Given the description of an element on the screen output the (x, y) to click on. 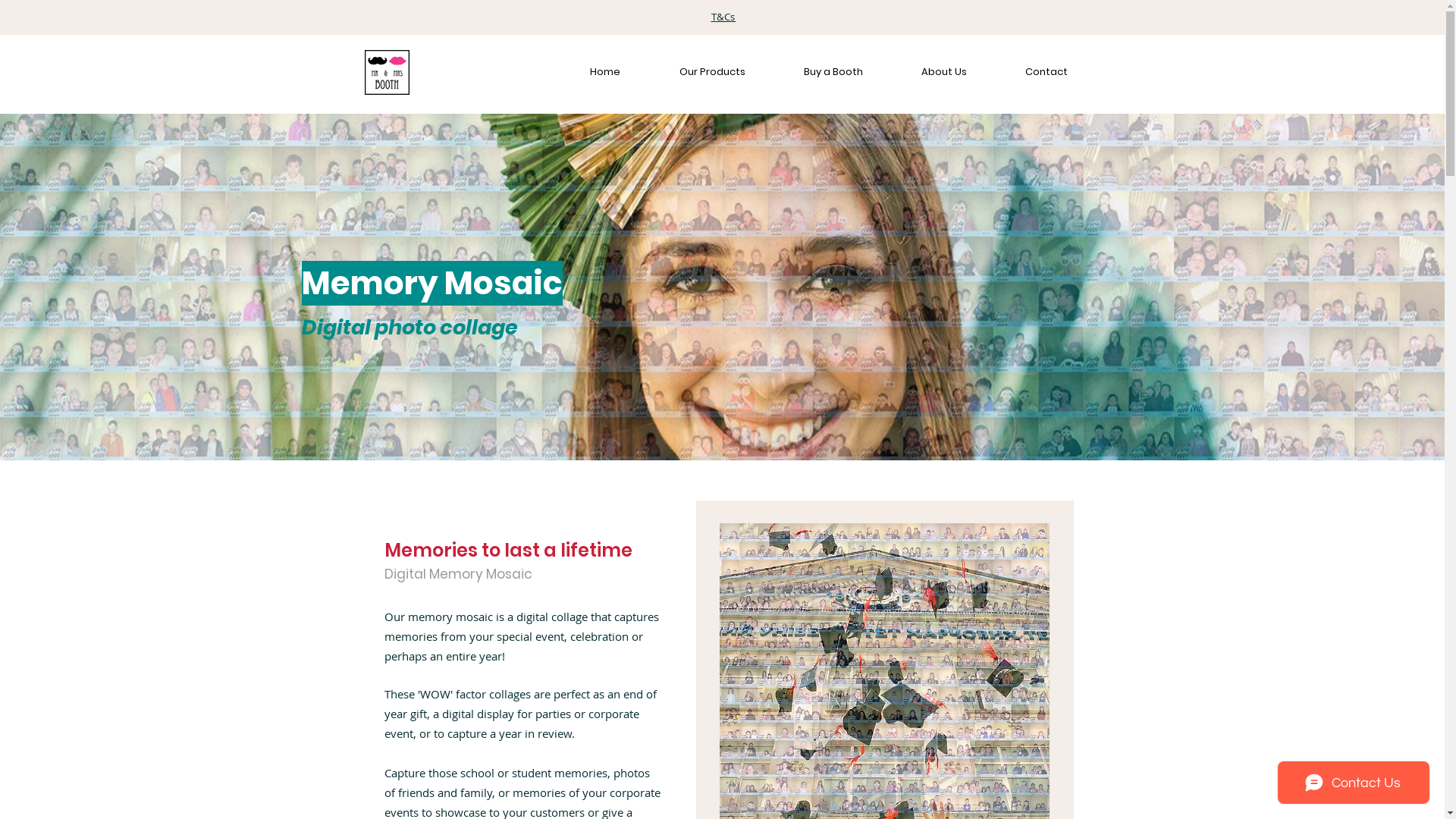
Contact Element type: text (1028, 72)
Home Element type: text (585, 72)
Our Products Element type: text (693, 72)
Buy a Booth Element type: text (815, 72)
T&Cs Element type: text (723, 16)
About Us Element type: text (925, 72)
